Given the description of an element on the screen output the (x, y) to click on. 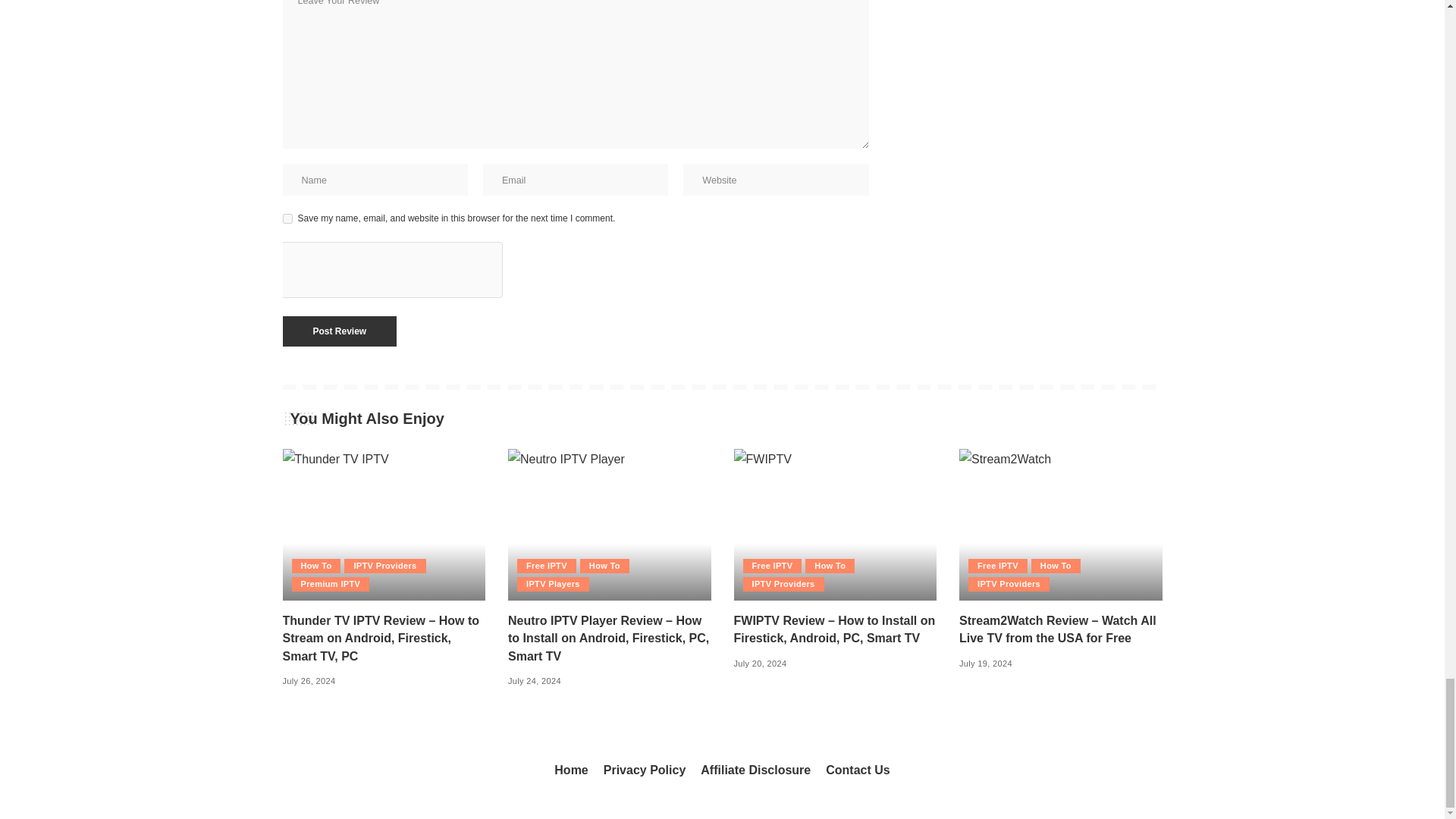
yes (287, 218)
Post Review (339, 331)
